Given the description of an element on the screen output the (x, y) to click on. 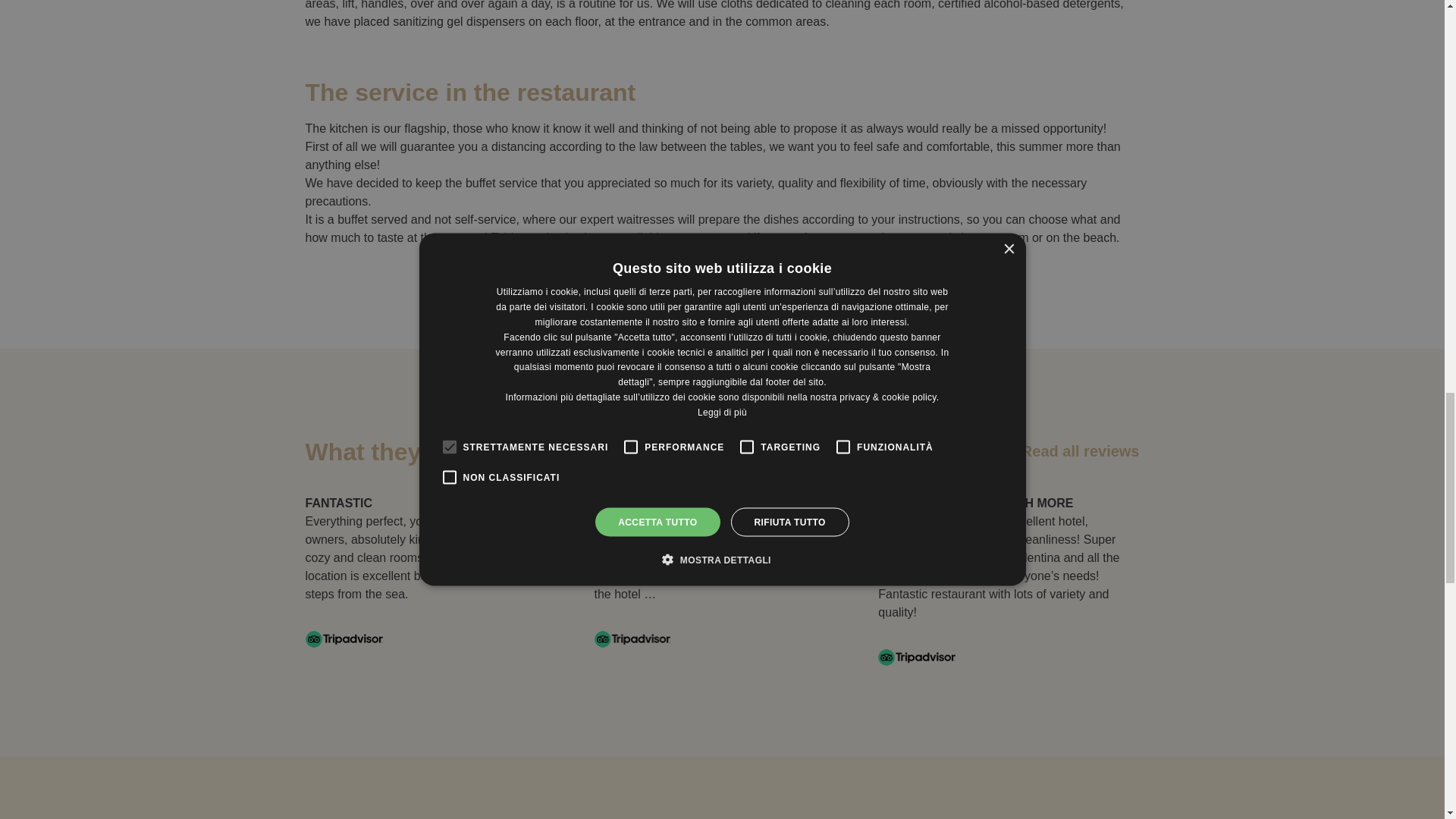
Read all reviews (1069, 450)
